Given the description of an element on the screen output the (x, y) to click on. 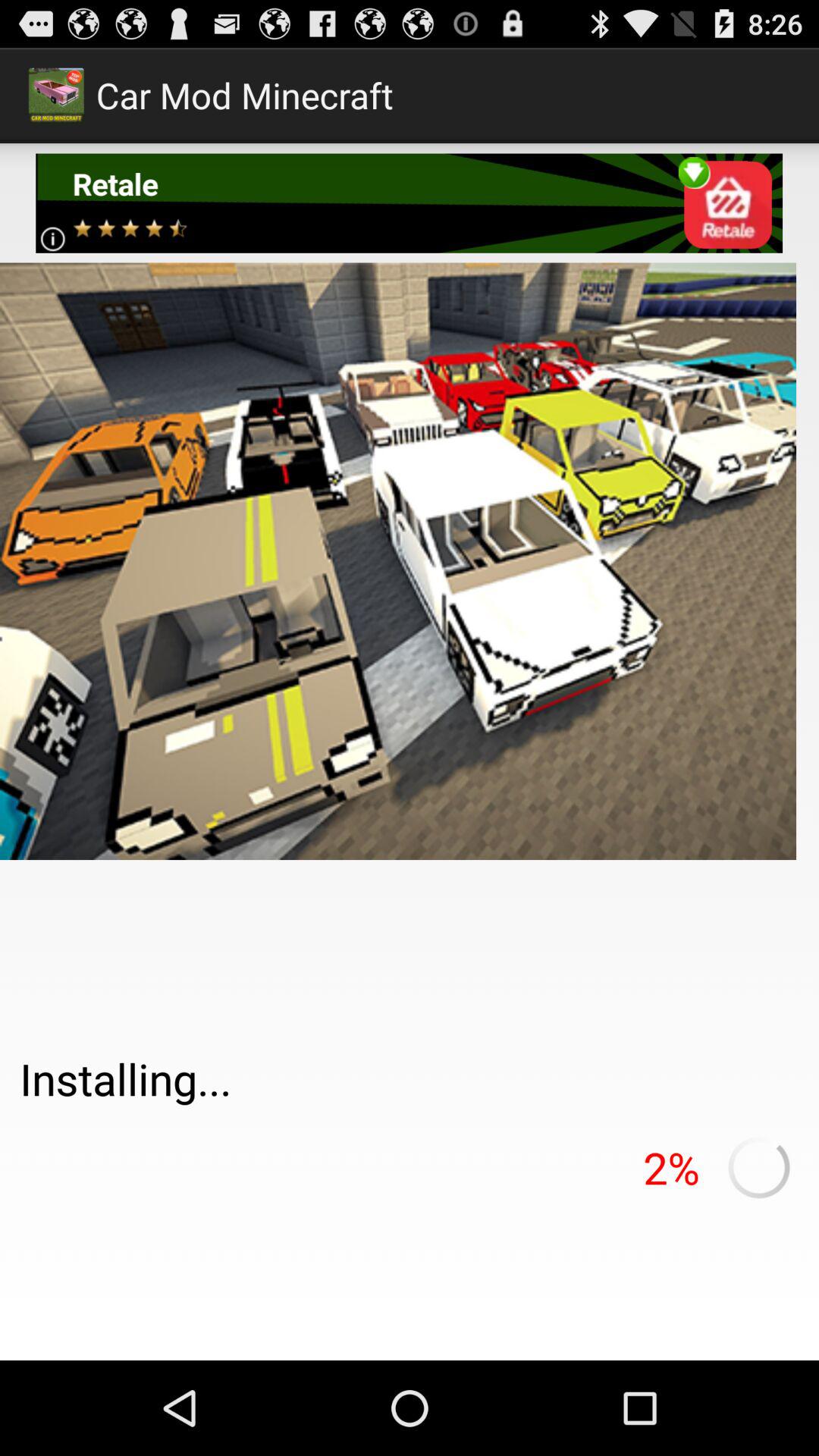
open the icon at the top (408, 203)
